Given the description of an element on the screen output the (x, y) to click on. 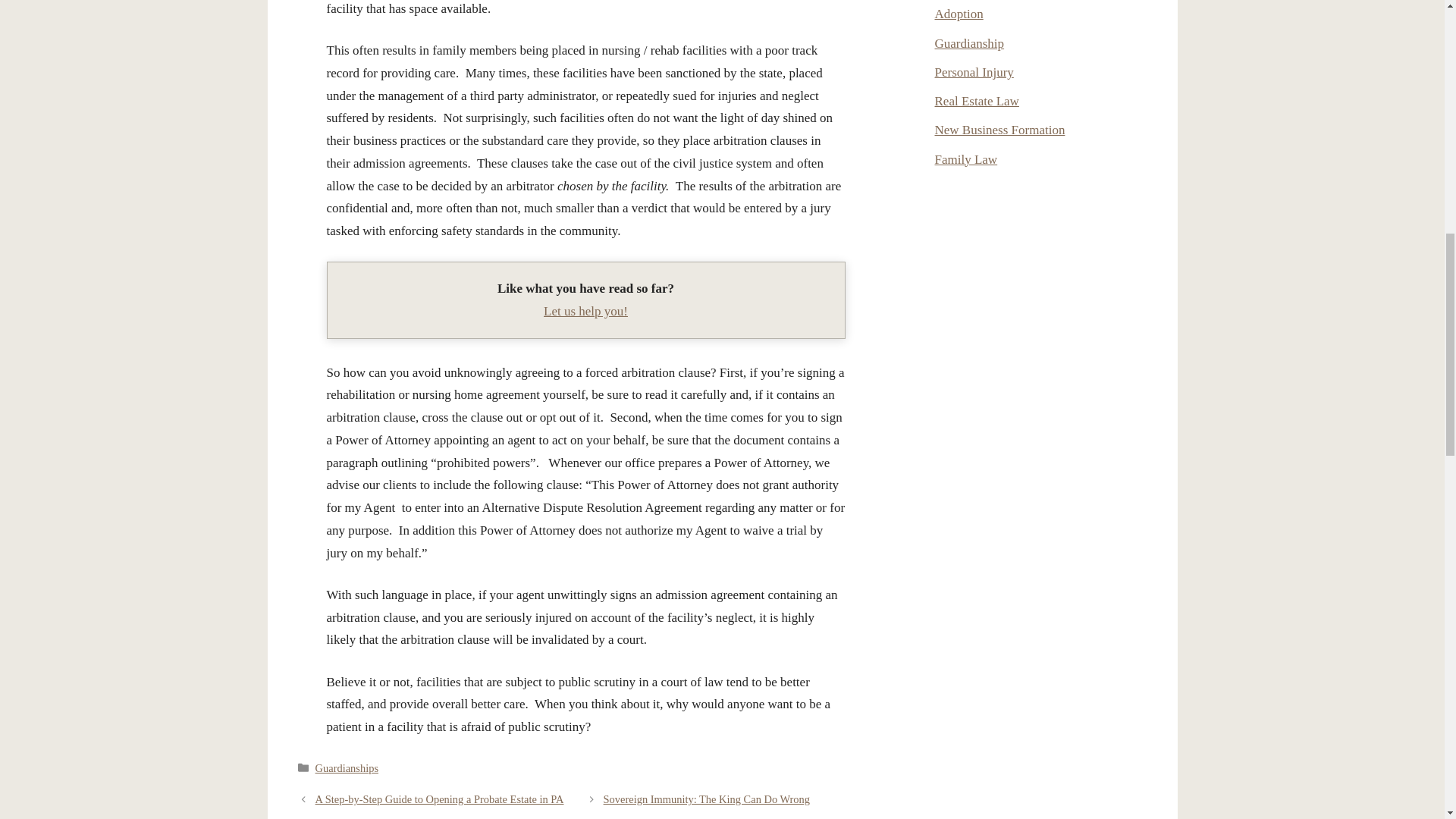
Guardianships (346, 767)
Sovereign Immunity: The King Can Do Wrong (706, 799)
Scroll back to top (1406, 720)
A Step-by-Step Guide to Opening a Probate Estate in PA (439, 799)
Let us help you! (585, 311)
